Given the description of an element on the screen output the (x, y) to click on. 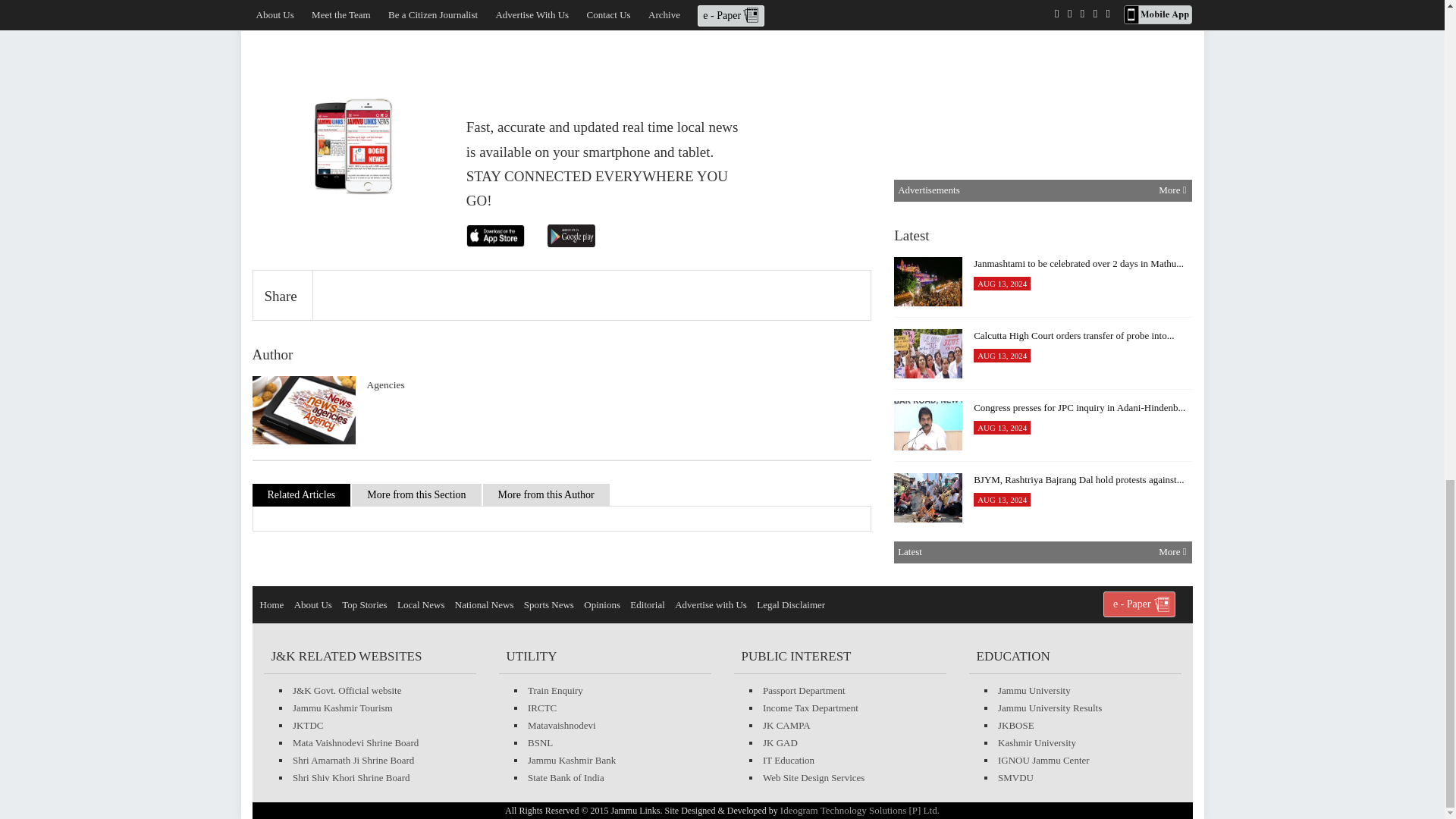
BJYM, Rashtriya Bajrang Dal hold protests against... (927, 497)
Congress presses for JPC inquiry in Adani-Hindenb... (927, 425)
Janmashtami to be celebrated over 2 days in Mathu... (927, 281)
Calcutta High Court orders transfer of probe into... (927, 353)
"Siding with criminals is in DNA of Samajwadi Par... (927, 569)
Manipur: Opposition holds protest in Parliament p... (927, 206)
Congress announces nationwide protest on August 2... (927, 785)
NDRF conducts mock earthquake, landslide exercise... (927, 134)
TRAI directs telcos to disconnect unregistered te... (927, 641)
Digital planetarium show organised (927, 7)
